Given the description of an element on the screen output the (x, y) to click on. 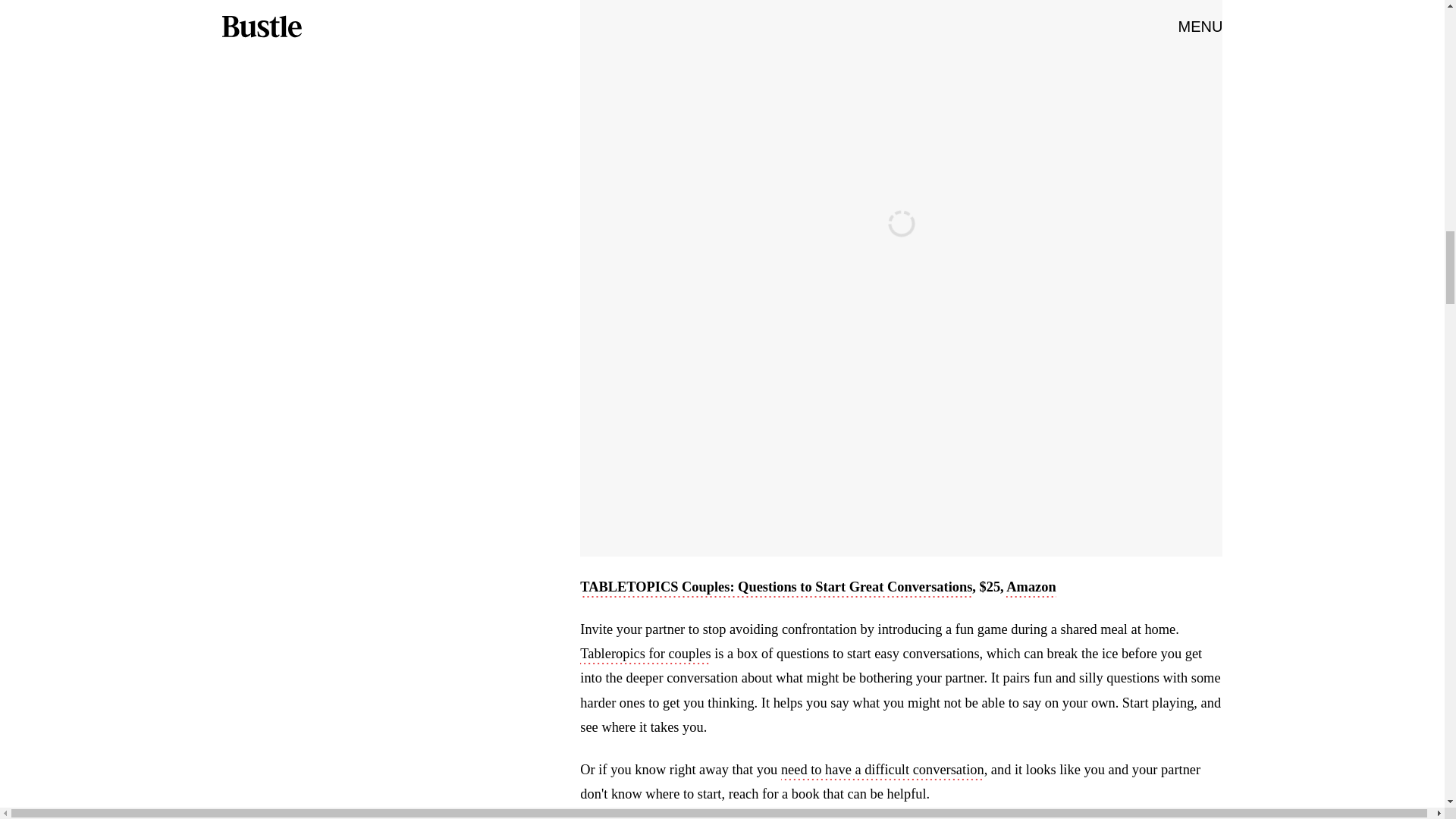
need to have a difficult conversation (882, 771)
TABLETOPICS Couples: Questions to Start Great Conversations (775, 588)
Tableropics for couples (644, 655)
Amazon (1030, 588)
